Given the description of an element on the screen output the (x, y) to click on. 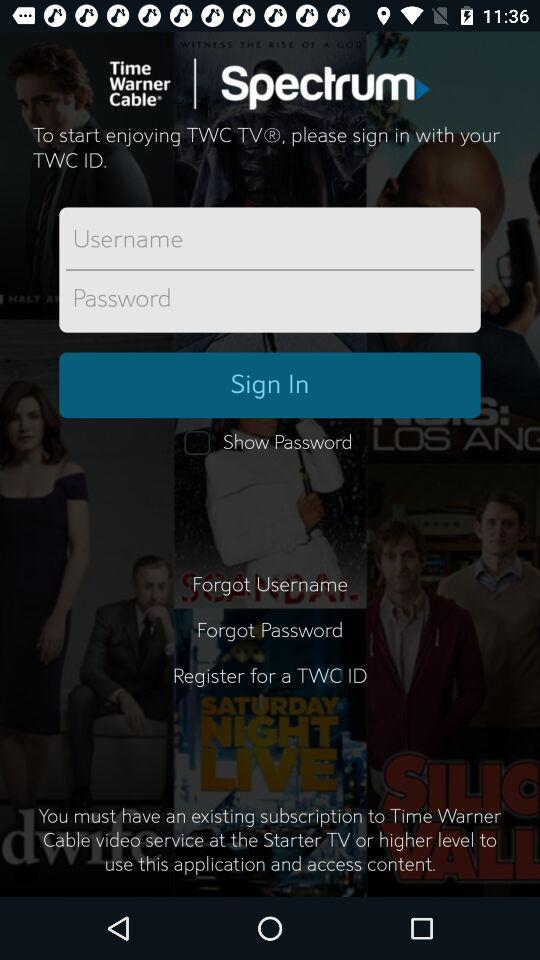
text box for username (270, 240)
